Given the description of an element on the screen output the (x, y) to click on. 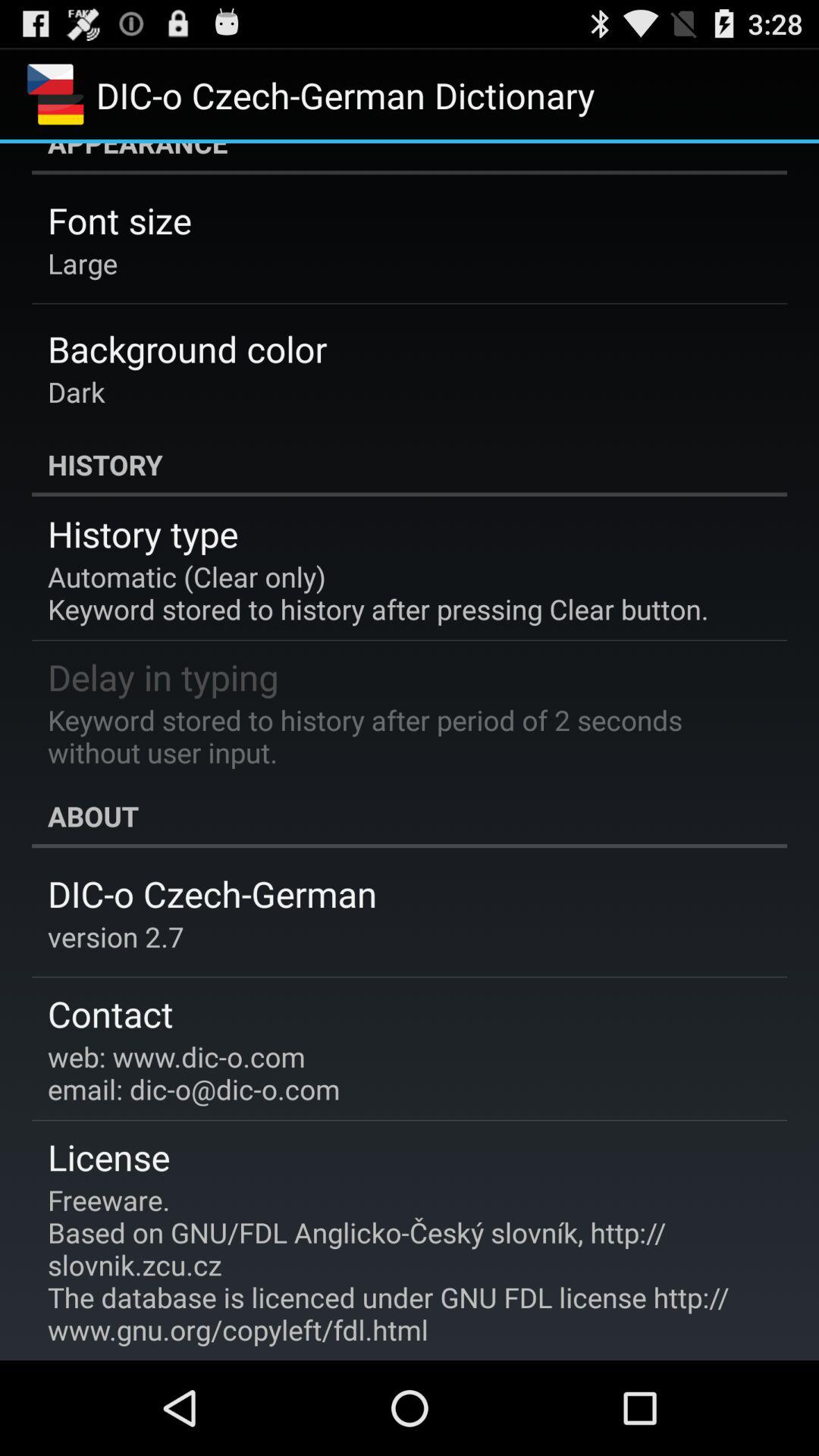
launch delay in typing app (162, 676)
